Given the description of an element on the screen output the (x, y) to click on. 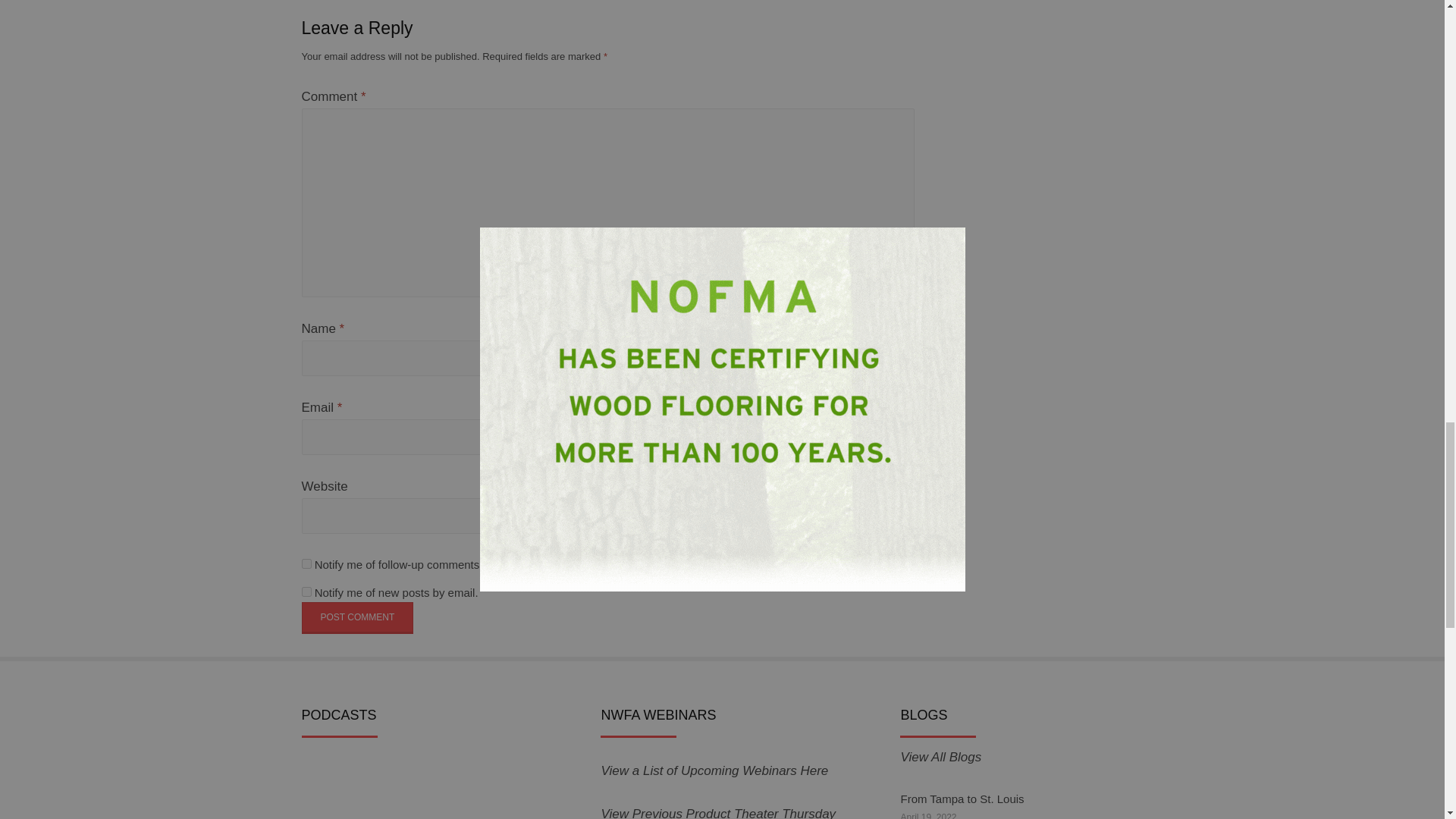
subscribe (306, 563)
subscribe (306, 592)
PODCASTS (376, 789)
Post Comment (357, 617)
